Given the description of an element on the screen output the (x, y) to click on. 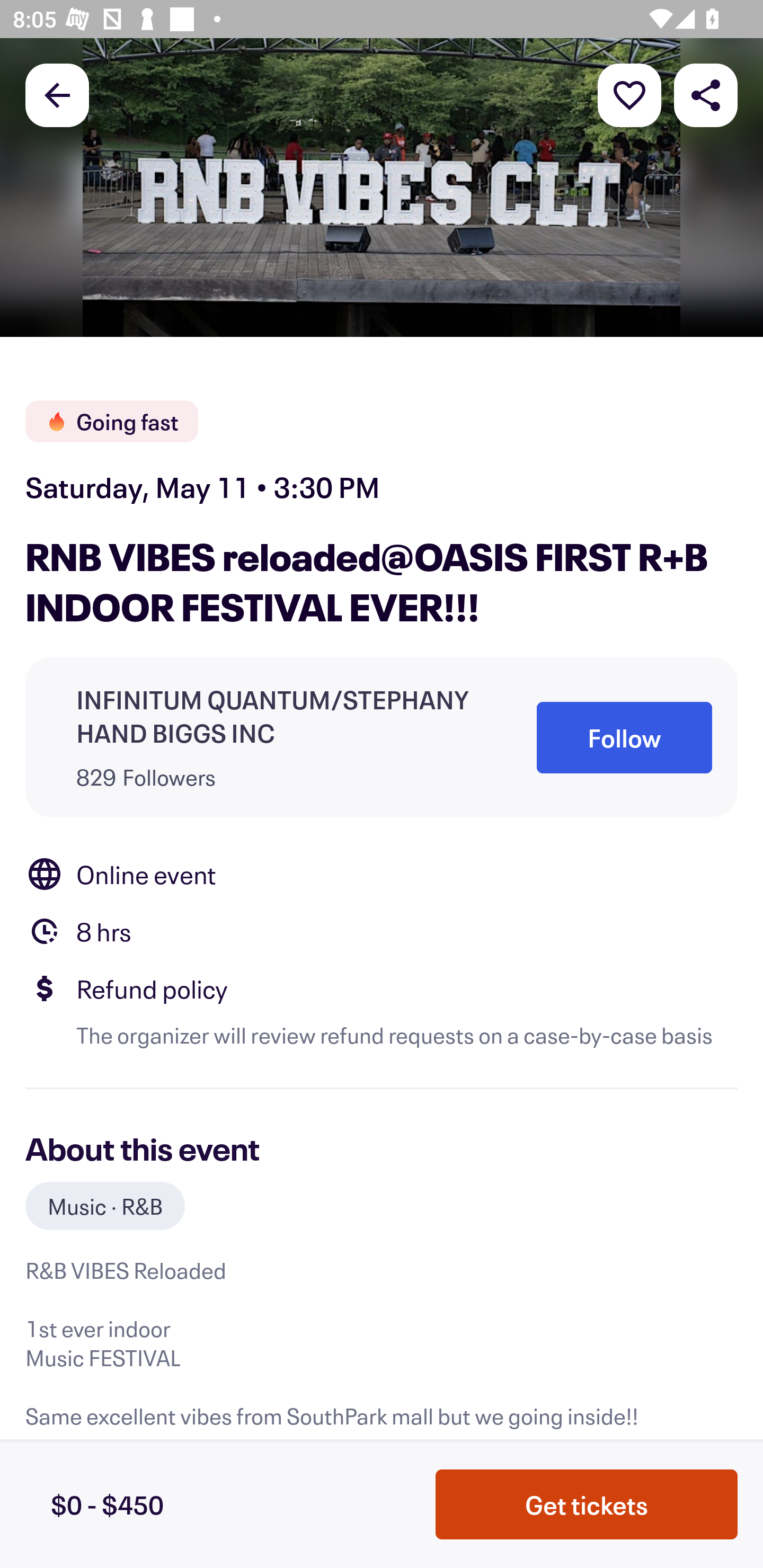
Back (57, 94)
More (629, 94)
Share (705, 94)
INFINITUM QUANTUM/STEPHANY HAND BIGGS INC (281, 715)
Follow (623, 737)
Location Online event (381, 873)
Get tickets (586, 1504)
